Given the description of an element on the screen output the (x, y) to click on. 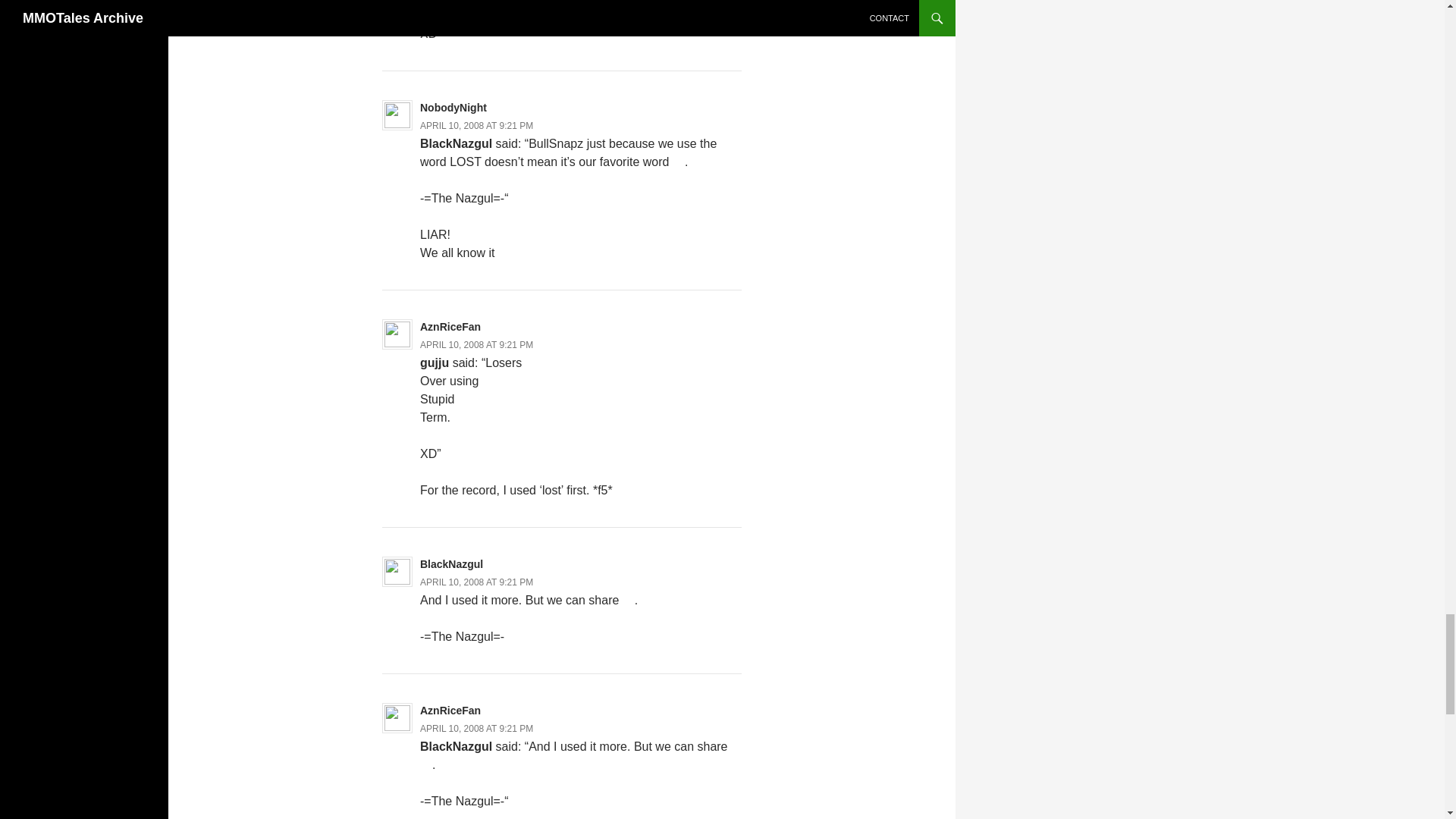
APRIL 10, 2008 AT 9:21 PM (476, 125)
APRIL 10, 2008 AT 9:21 PM (476, 582)
APRIL 10, 2008 AT 9:21 PM (476, 344)
APRIL 10, 2008 AT 9:21 PM (476, 728)
